Given the description of an element on the screen output the (x, y) to click on. 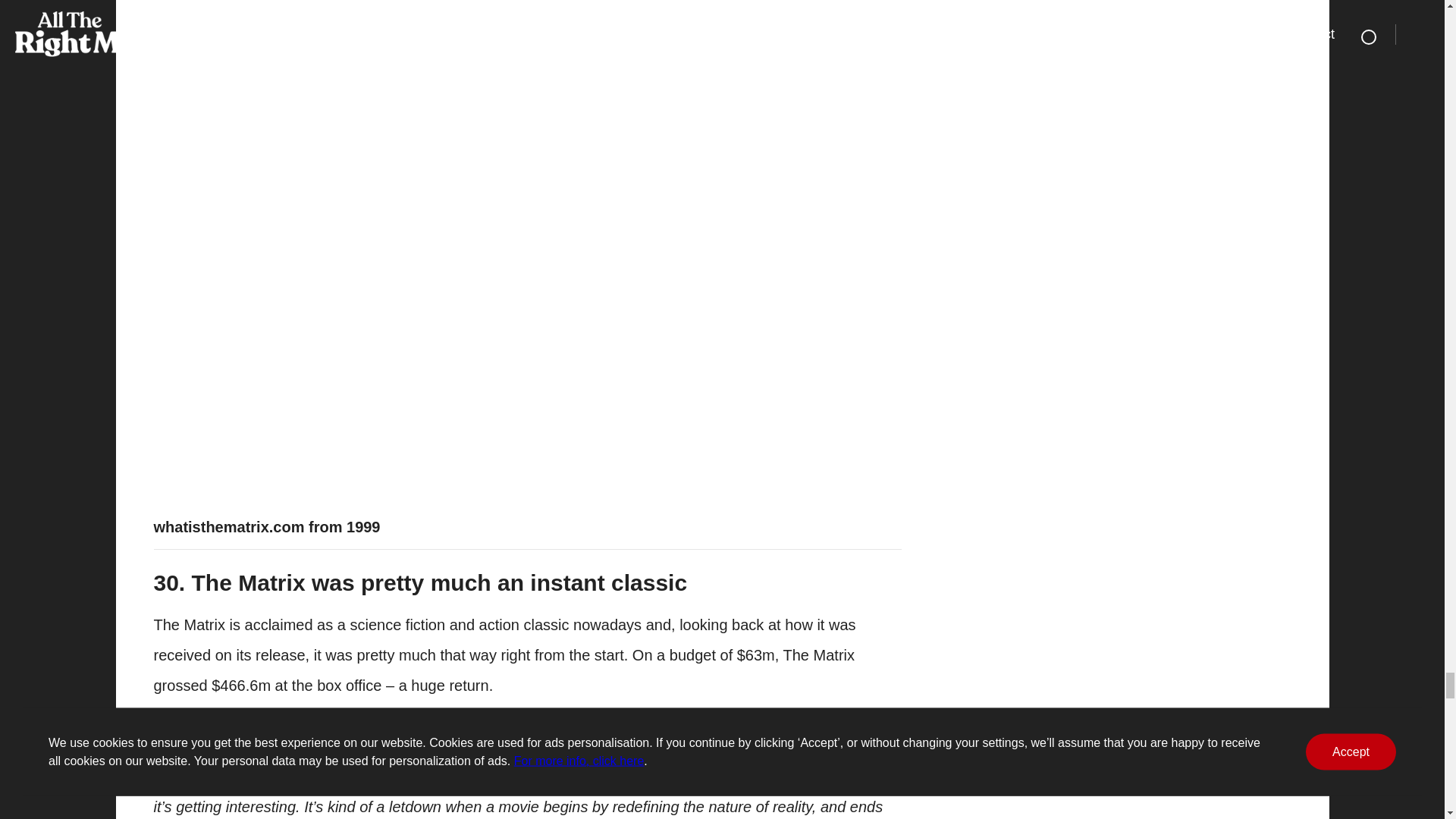
3 out of 4 (575, 745)
